Given the description of an element on the screen output the (x, y) to click on. 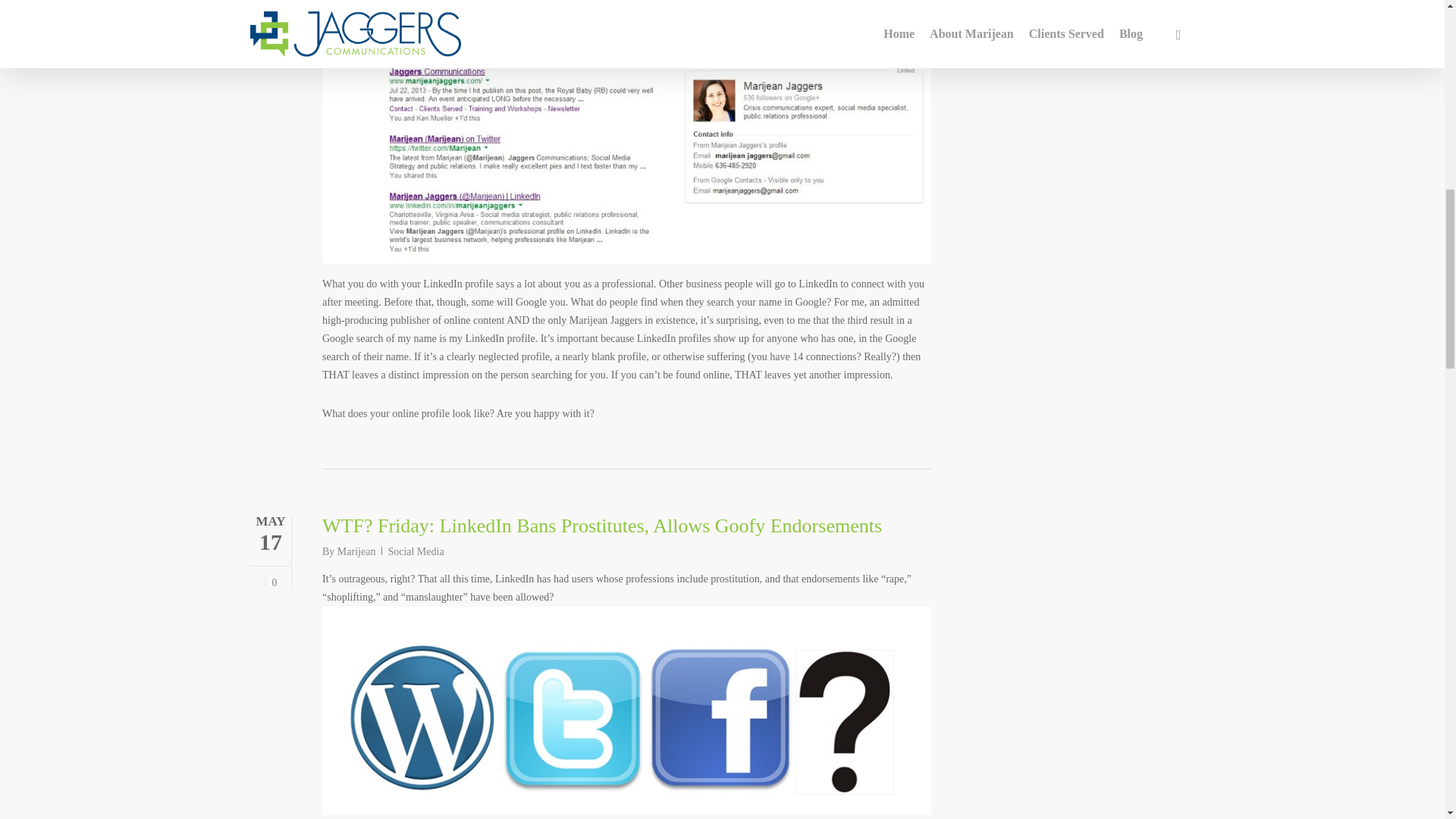
Love this (269, 583)
Posts by Marijean (356, 551)
Social Media (415, 551)
0 (269, 583)
Marijean (356, 551)
